Given the description of an element on the screen output the (x, y) to click on. 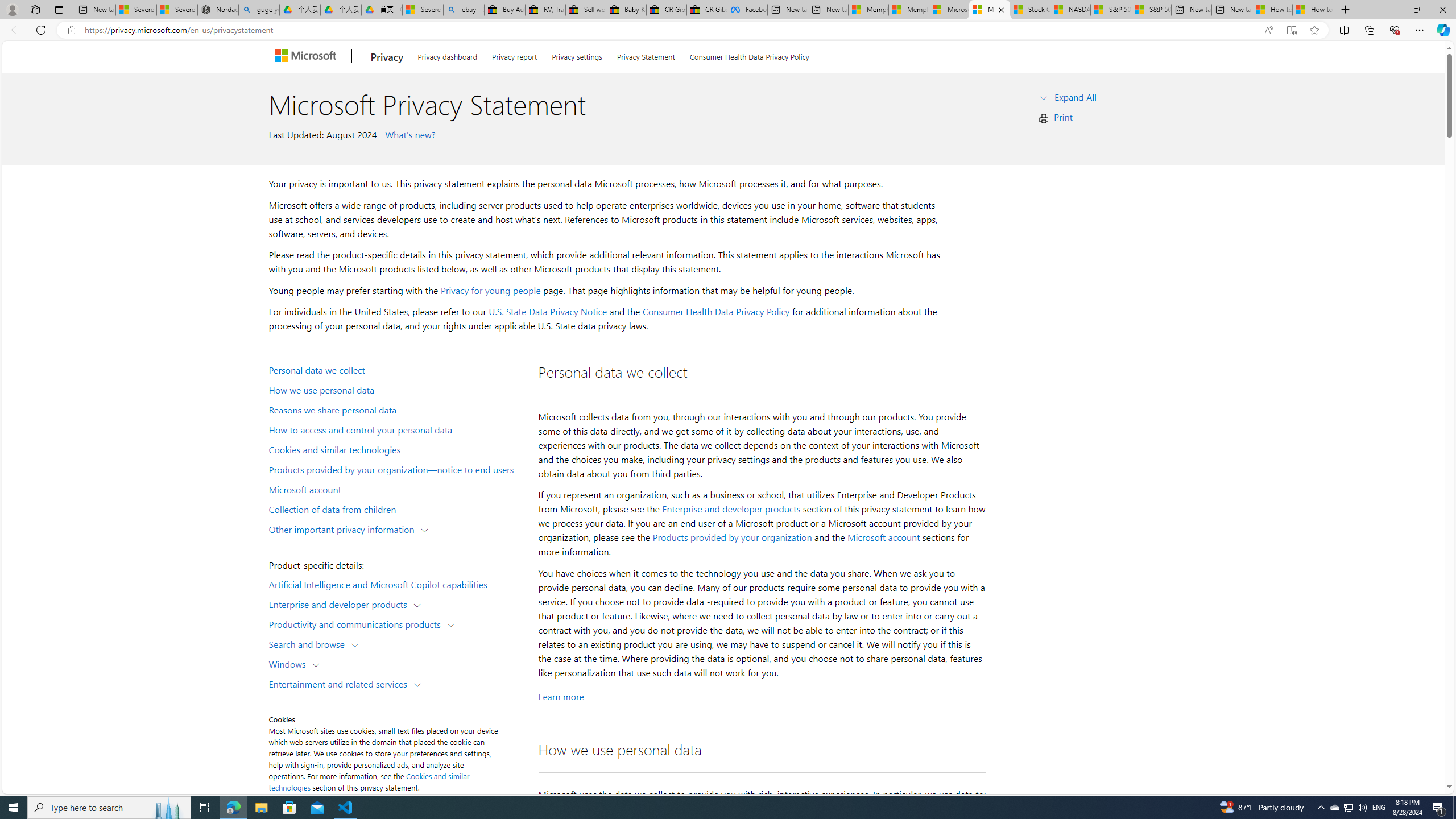
Windows (289, 663)
Microsoft account (883, 537)
Entertainment and related services (340, 683)
Privacy dashboard (447, 54)
Reasons we share personal data (395, 409)
Microsoft account (395, 488)
Cookies and similar technologies (368, 780)
